Given the description of an element on the screen output the (x, y) to click on. 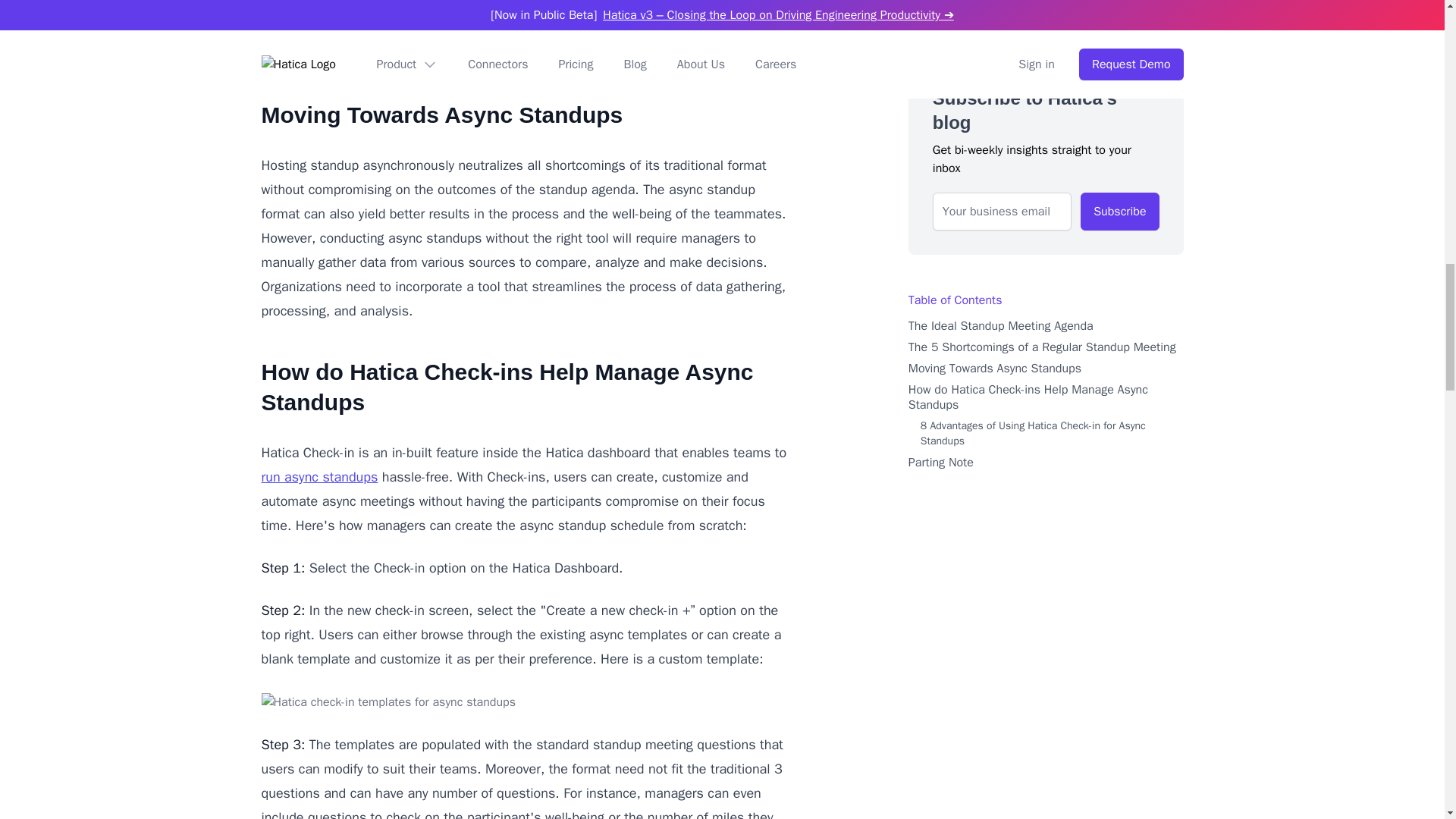
run async standups (318, 476)
